Given the description of an element on the screen output the (x, y) to click on. 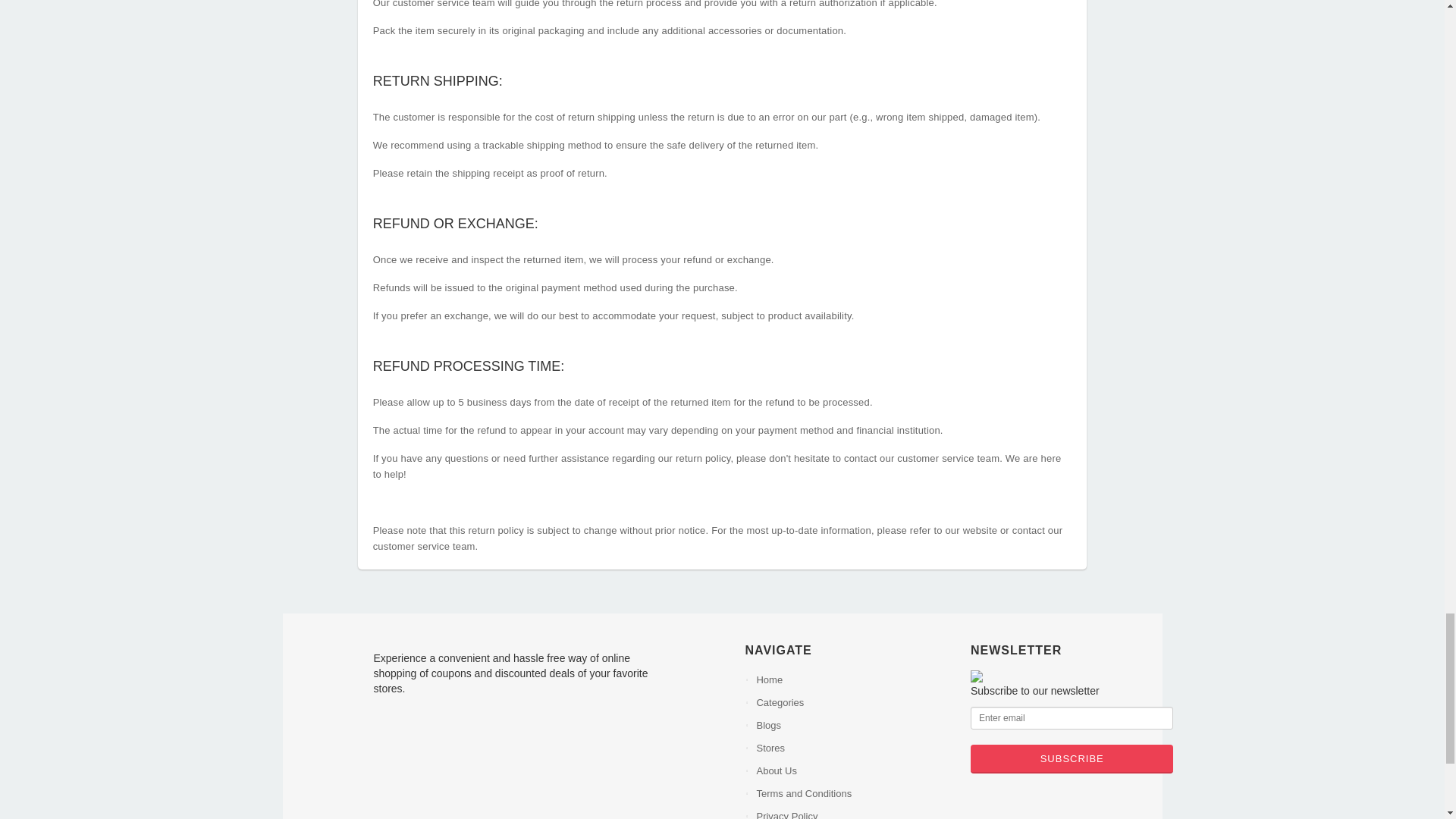
Terms and Conditions (851, 793)
Stores (851, 748)
About Us (851, 771)
Home (851, 680)
SUBSCRIBE (1072, 758)
About us (851, 771)
Blogs (851, 725)
Privacy Policy (851, 812)
Stores (851, 748)
Categories (851, 702)
